Given the description of an element on the screen output the (x, y) to click on. 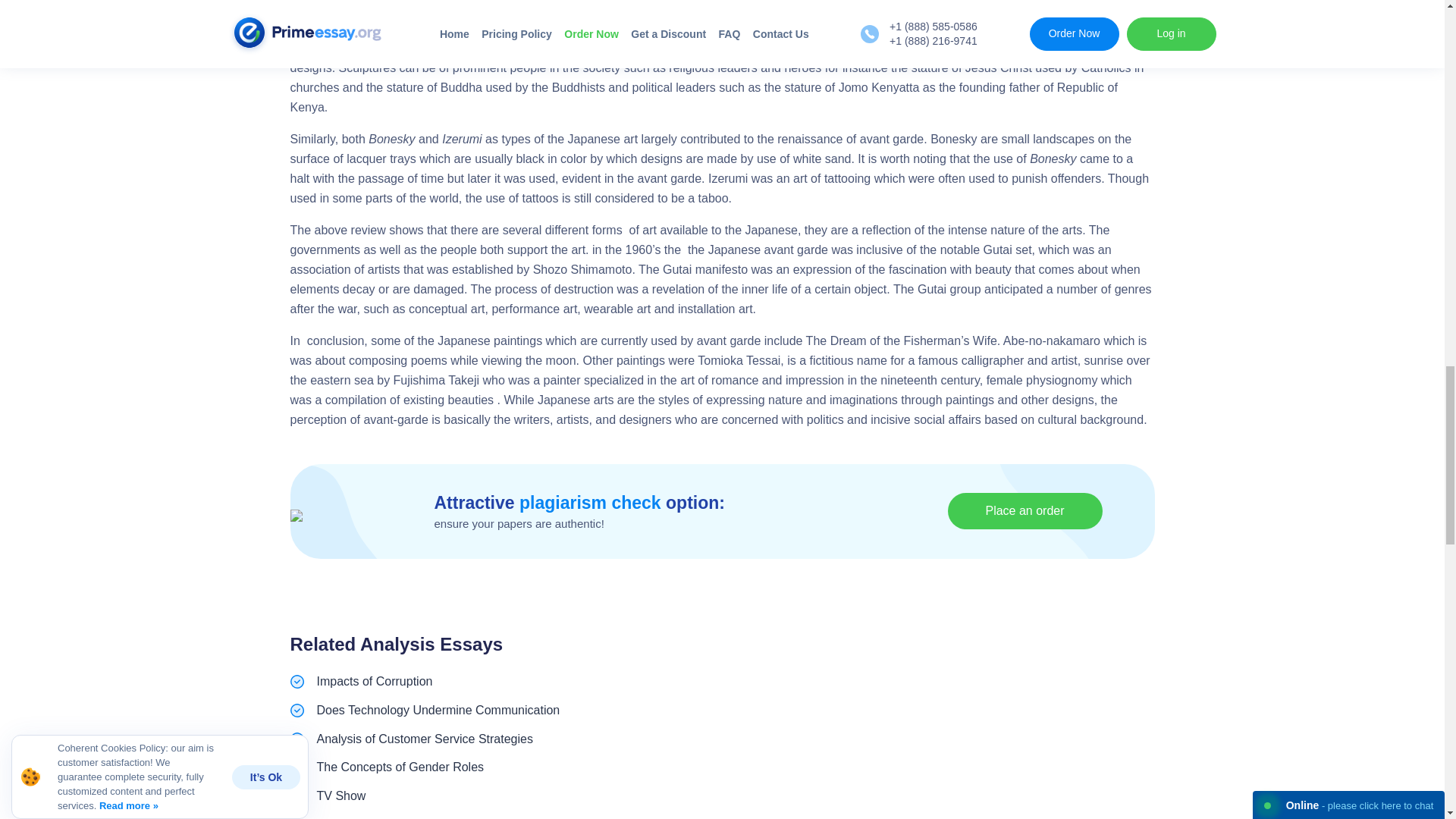
TV Show (341, 795)
Analysis of Customer Service Strategies (424, 738)
Impacts of Corruption (374, 680)
Does Technology Undermine Communication (438, 709)
The Concepts of Gender Roles (400, 766)
Impacts of Corruption (374, 680)
The Concepts of Gender Roles (400, 766)
TV Show (341, 795)
